Given the description of an element on the screen output the (x, y) to click on. 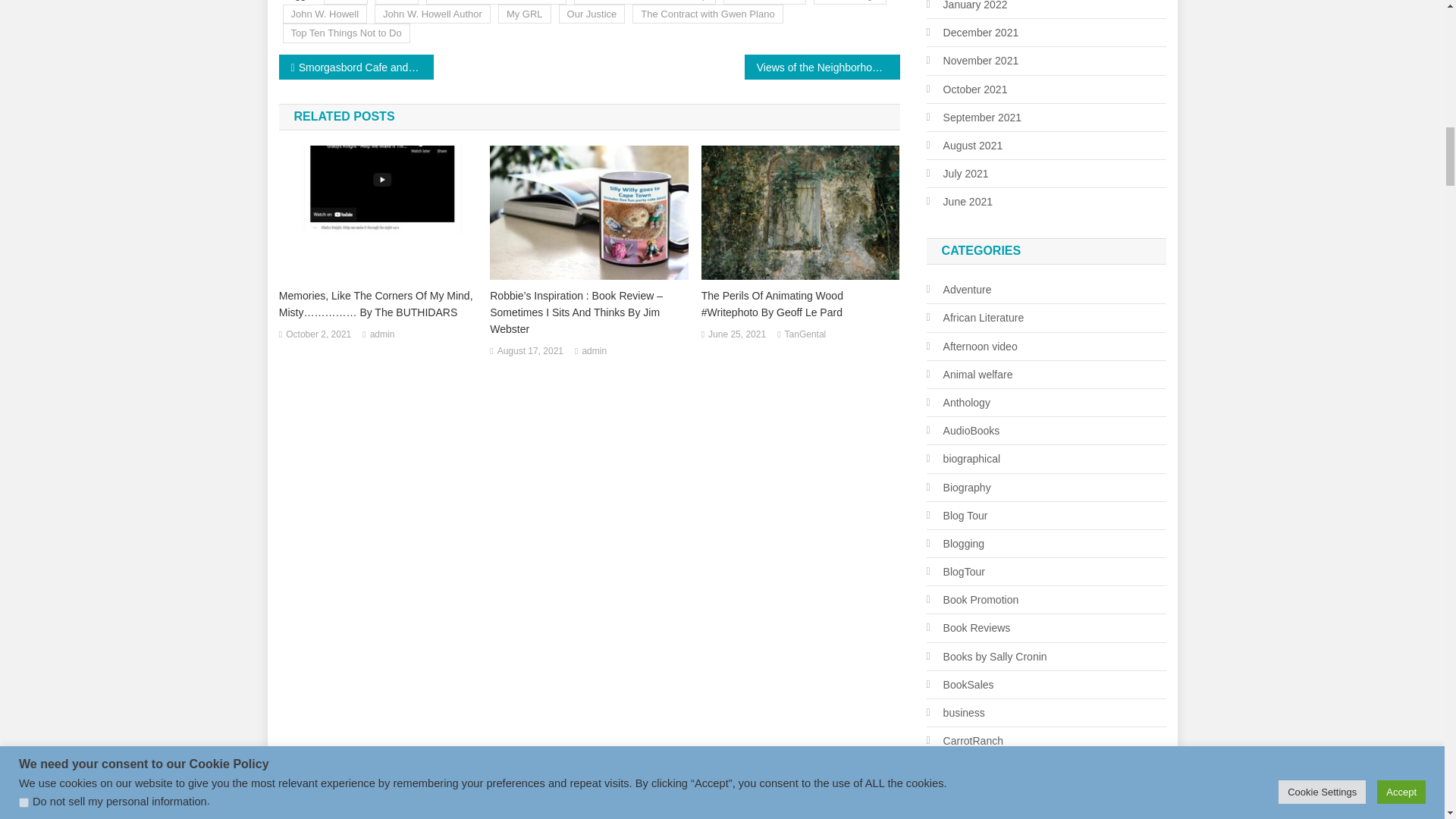
My GRL (524, 13)
fiction favorites (764, 2)
Our Justice (592, 13)
His Revenge (849, 2)
John W. Howell (324, 13)
John W. Howell Author (432, 13)
Eternal Road - The final stop (644, 2)
The Contract with Gwen Plano (707, 13)
Circumstances of Childhood (496, 2)
author (345, 2)
books (397, 2)
